Given the description of an element on the screen output the (x, y) to click on. 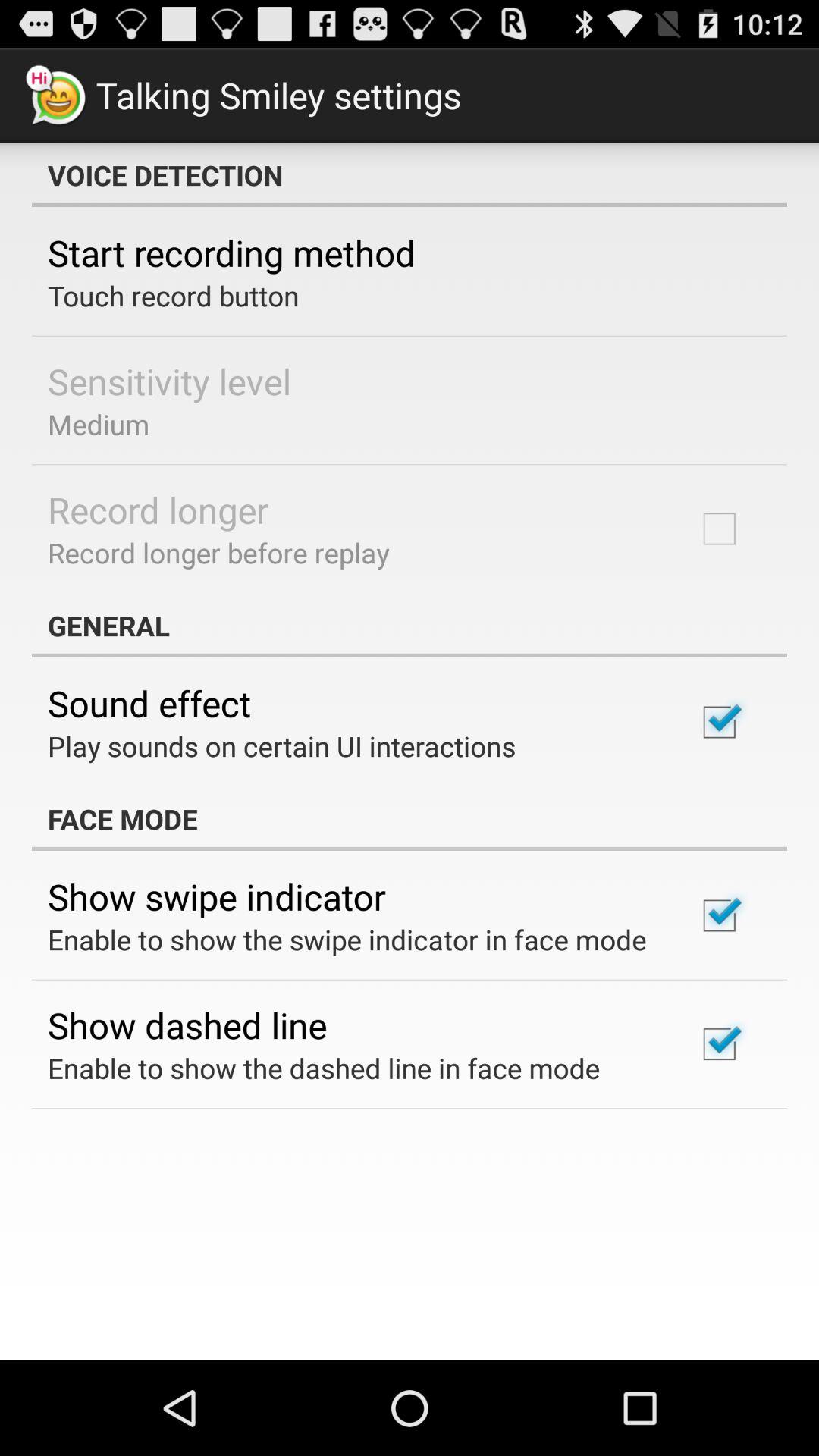
turn on sound effect icon (149, 703)
